Given the description of an element on the screen output the (x, y) to click on. 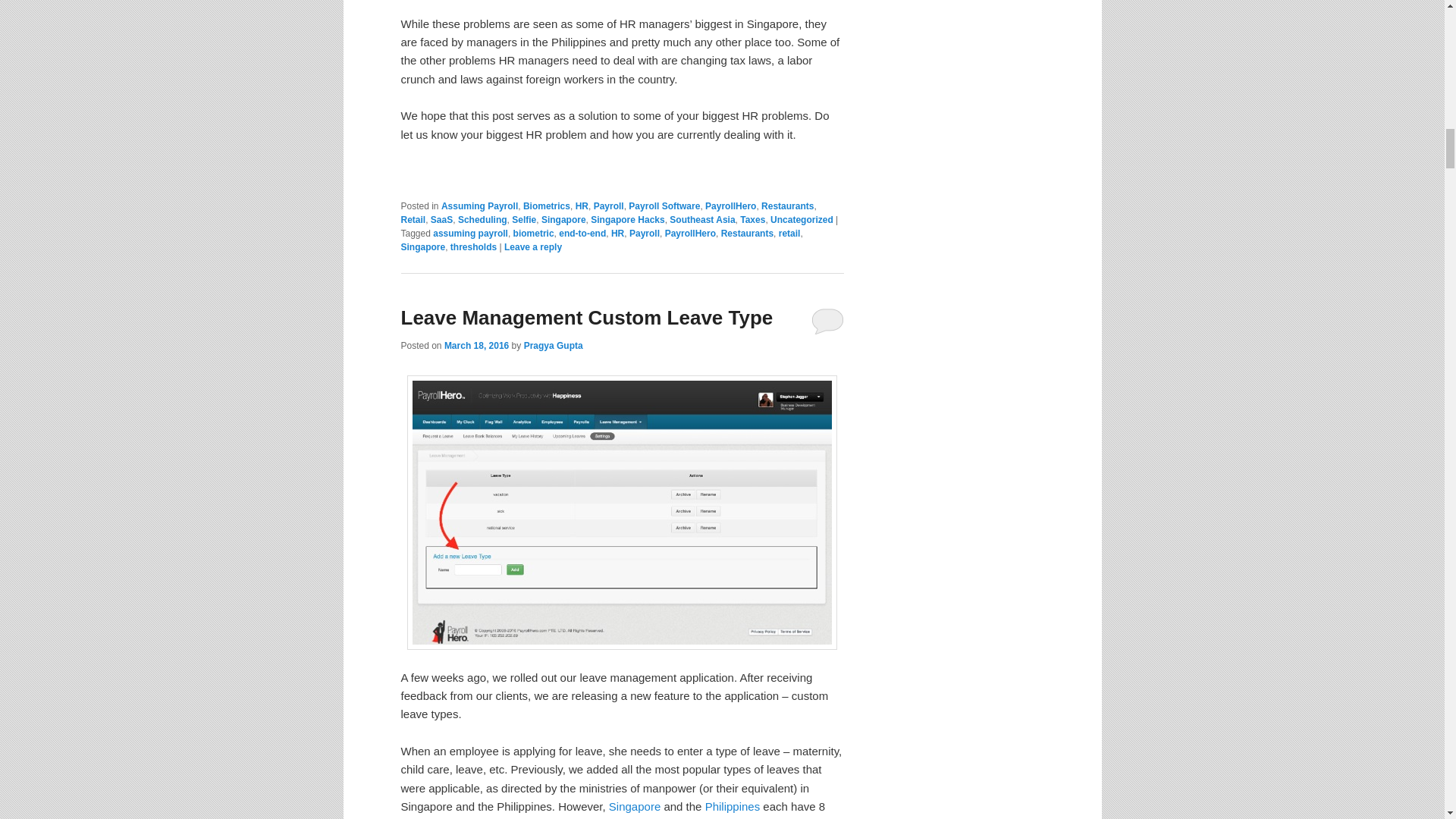
SaaS (441, 219)
Retail (412, 219)
Southeast Asia (702, 219)
4:01 pm (476, 345)
Selfie (523, 219)
Biometrics (546, 205)
Uncategorized (801, 219)
Scheduling (482, 219)
Payroll (609, 205)
Payroll Software (664, 205)
HR (581, 205)
Taxes (752, 219)
PayrollHero (729, 205)
Singapore Hacks (627, 219)
Restaurants (787, 205)
